Given the description of an element on the screen output the (x, y) to click on. 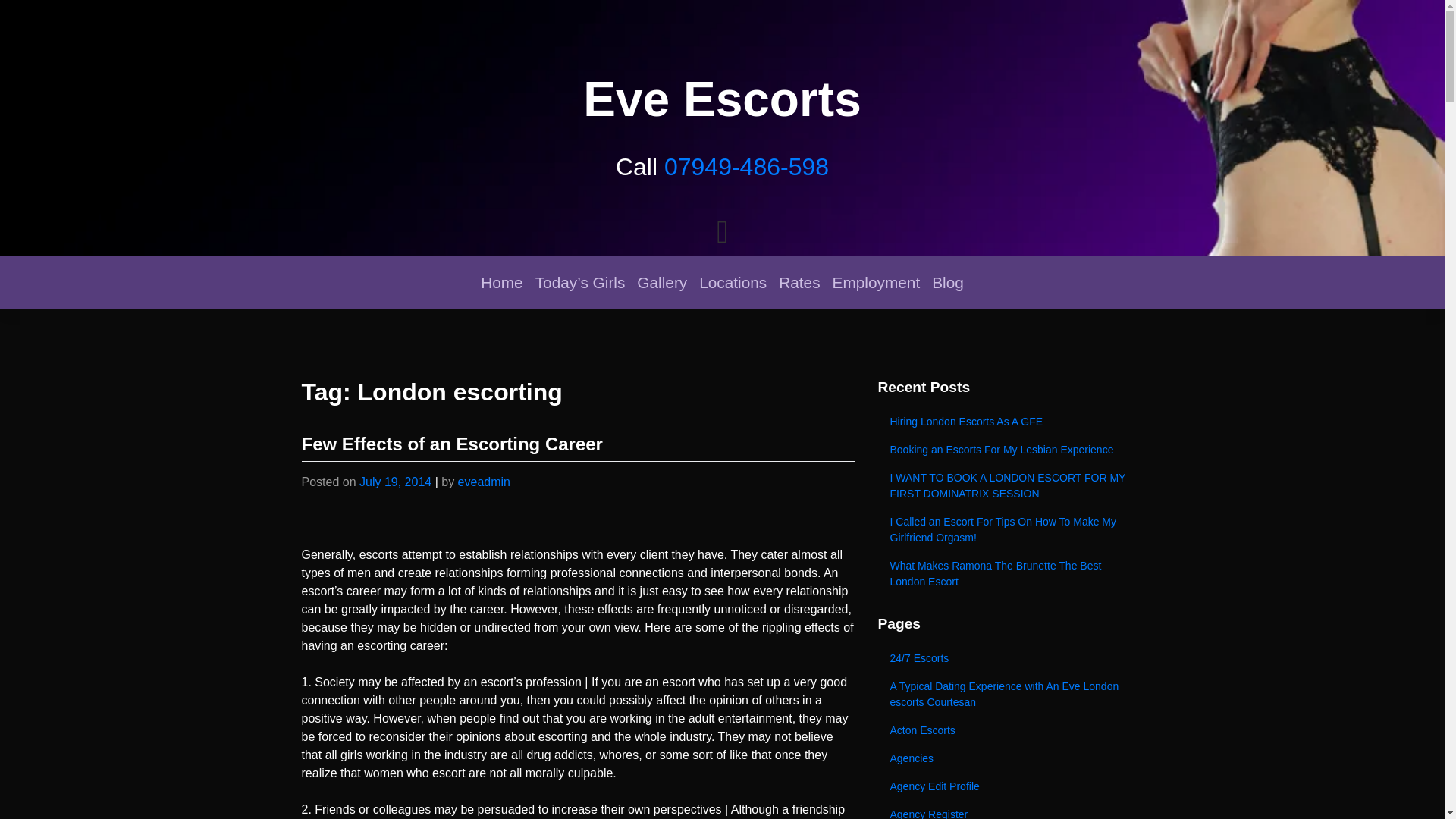
July 19, 2014 (394, 481)
Blog (947, 282)
Employment (876, 282)
Acton Escorts (1009, 730)
Booking an Escorts For My Lesbian Experience (1009, 449)
Locations (733, 282)
Blog (947, 282)
Gallery (661, 282)
Few Effects of an Escorting Career (451, 444)
Home (501, 282)
Locations (733, 282)
Hiring London Escorts As A GFE (1009, 421)
Agency Edit Profile (1009, 786)
